Given the description of an element on the screen output the (x, y) to click on. 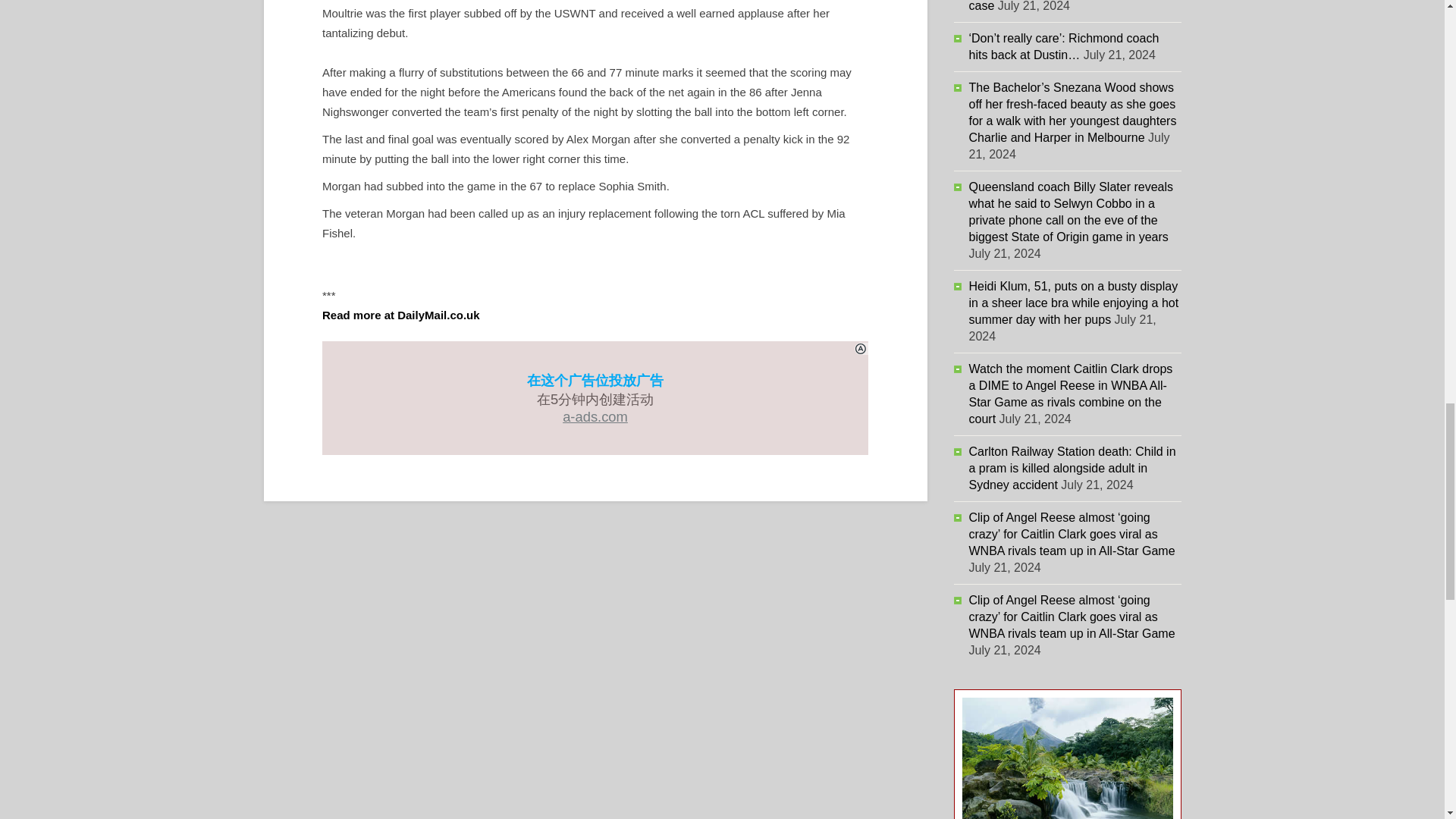
Read more at DailyMail.co.uk (400, 314)
